Given the description of an element on the screen output the (x, y) to click on. 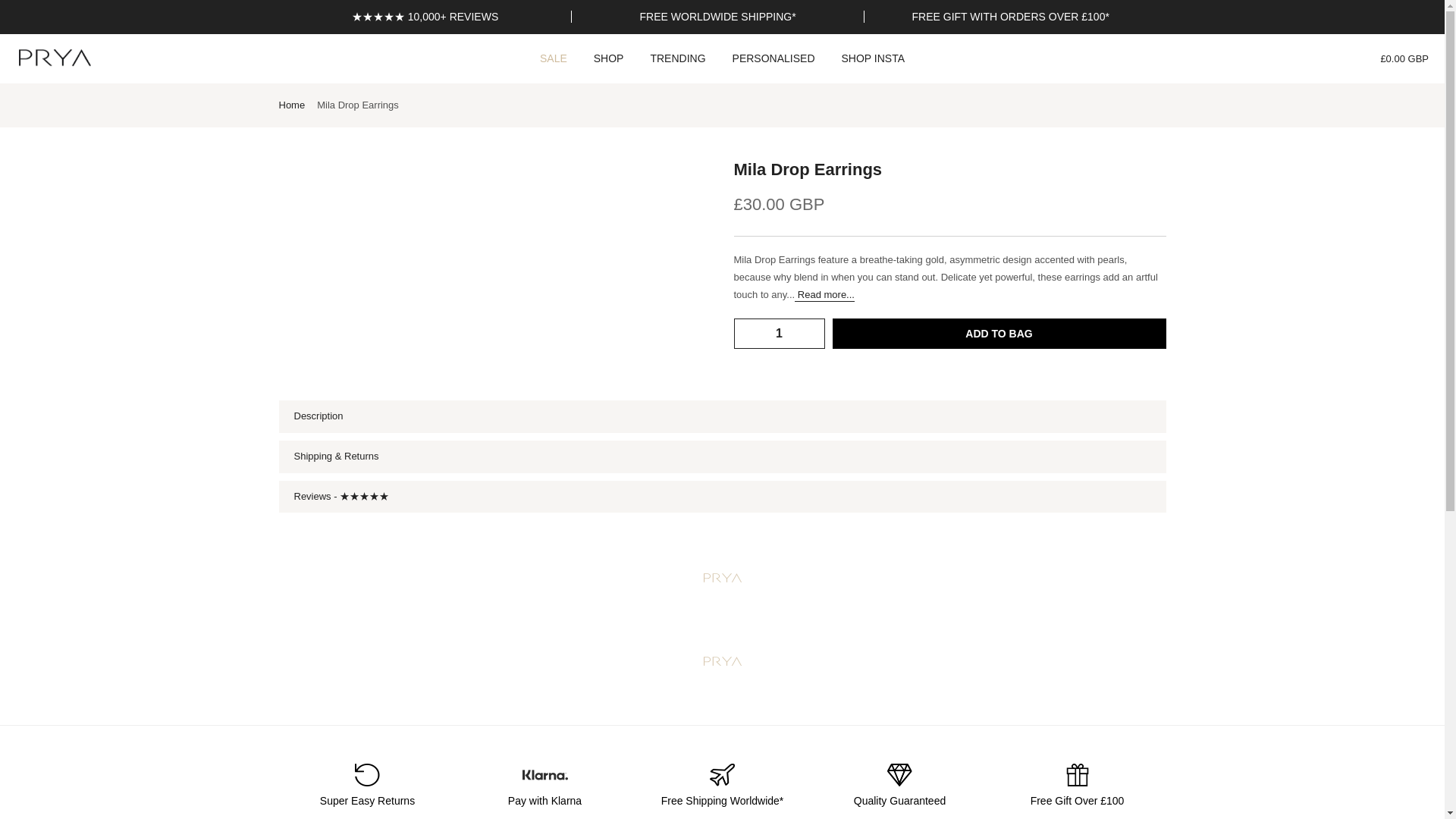
1 (778, 333)
SHOP (608, 57)
SALE (552, 57)
TRENDING (678, 57)
